Given the description of an element on the screen output the (x, y) to click on. 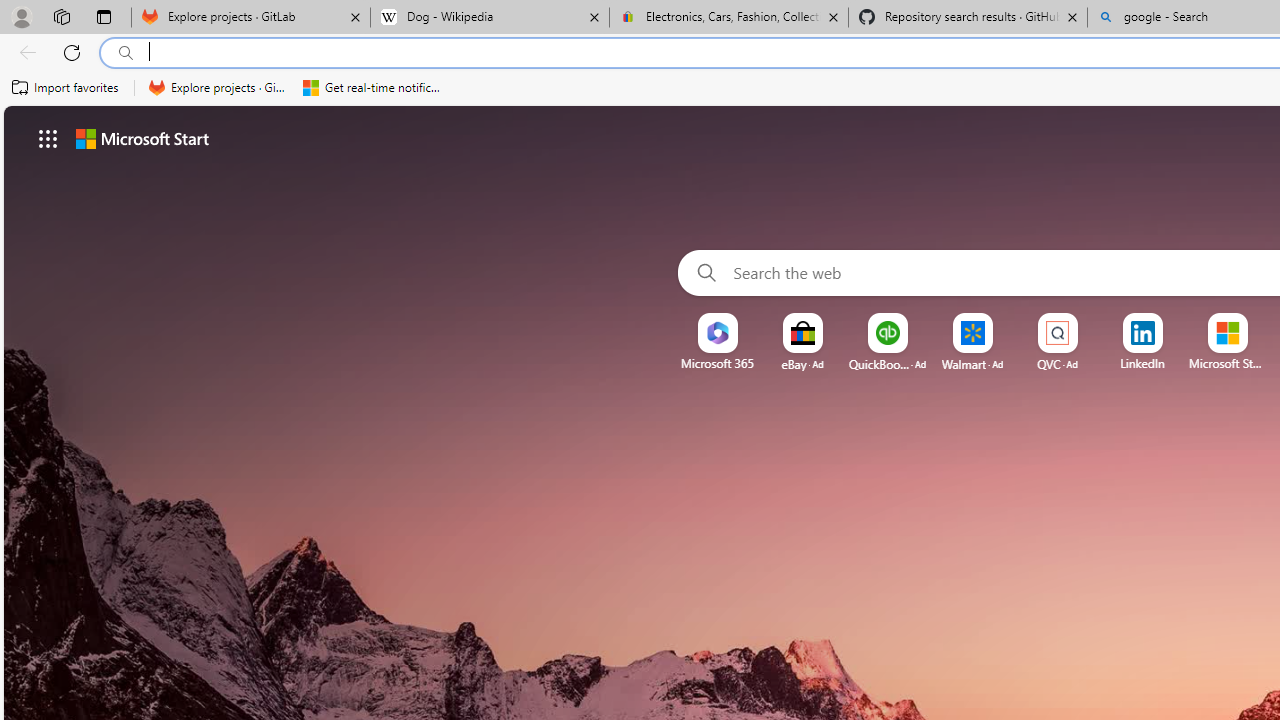
Import favorites (65, 88)
LinkedIn (1142, 363)
Microsoft start (142, 138)
App launcher (47, 138)
Search icon (125, 53)
